Given the description of an element on the screen output the (x, y) to click on. 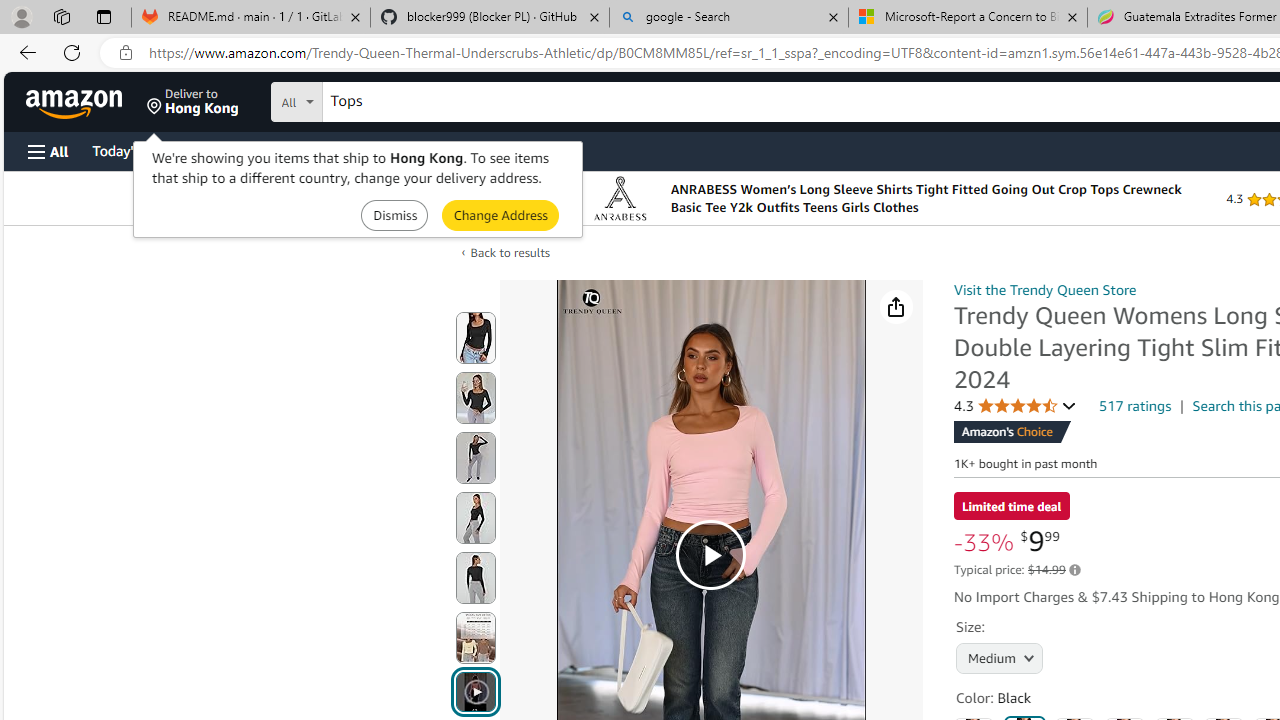
Back to results (509, 251)
Today's Deals (134, 150)
AutomationID: native_dropdown_selected_size_name (996, 656)
Sell (509, 150)
Share (896, 307)
Back to results (509, 252)
Visit the Trendy Queen Store (1044, 289)
Search in (371, 99)
Amazon (76, 101)
